Given the description of an element on the screen output the (x, y) to click on. 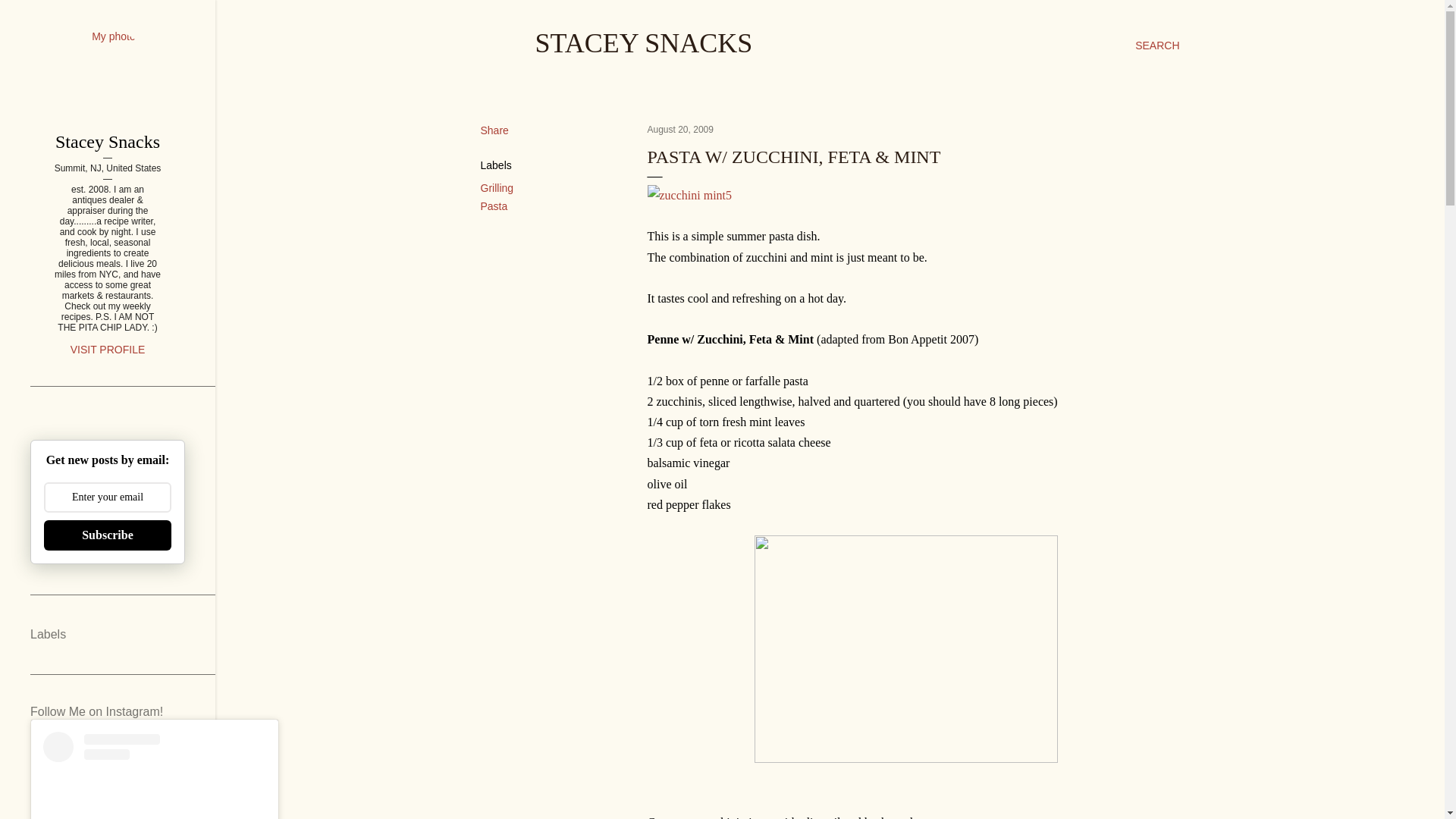
SEARCH (1157, 45)
August 20, 2009 (680, 129)
STACEY SNACKS (643, 42)
Grilling (496, 187)
Share (494, 130)
zucchini mint5 (689, 195)
permanent link (680, 129)
Pasta (494, 205)
